Given the description of an element on the screen output the (x, y) to click on. 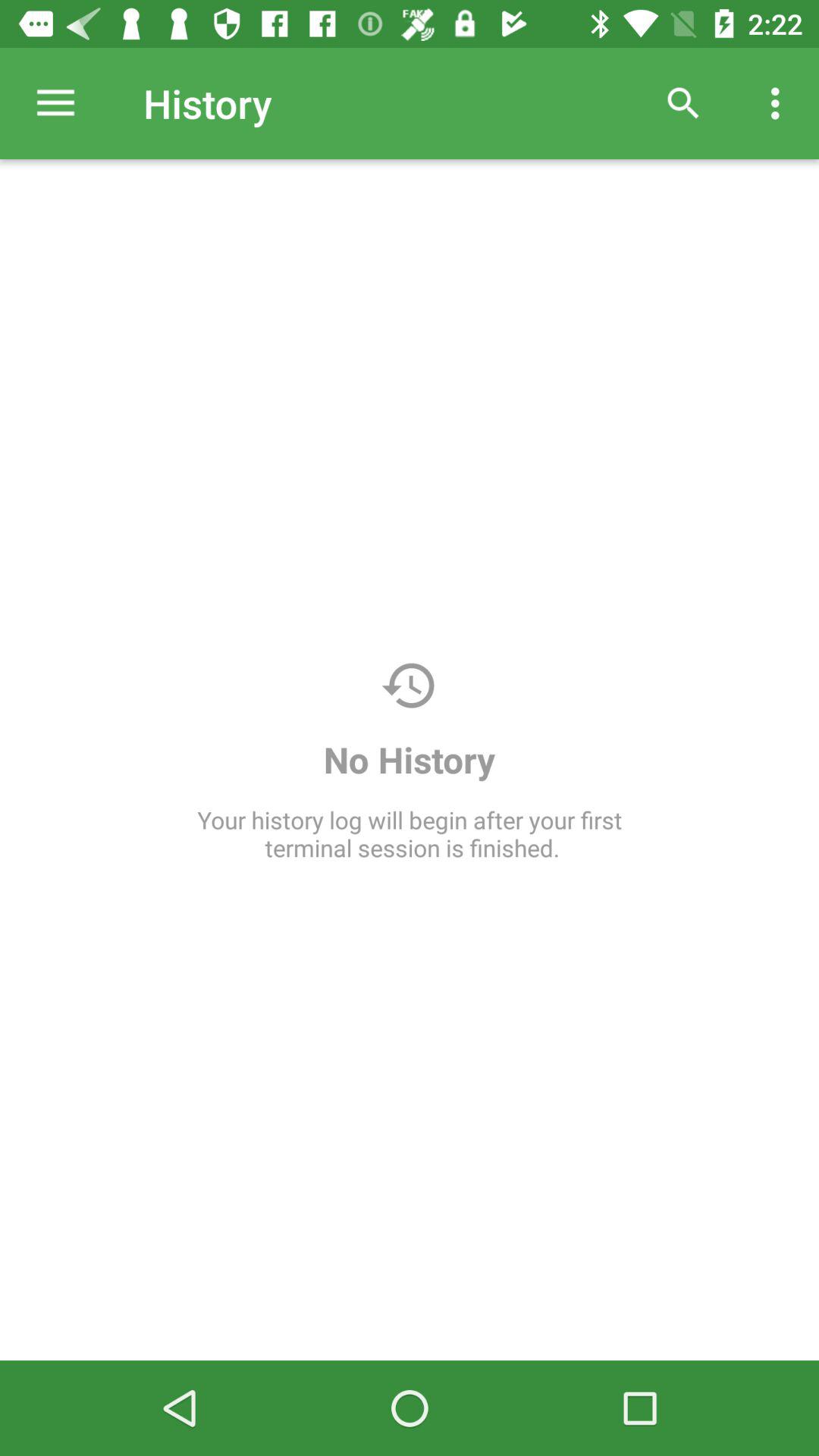
turn off item above your history log icon (683, 103)
